Given the description of an element on the screen output the (x, y) to click on. 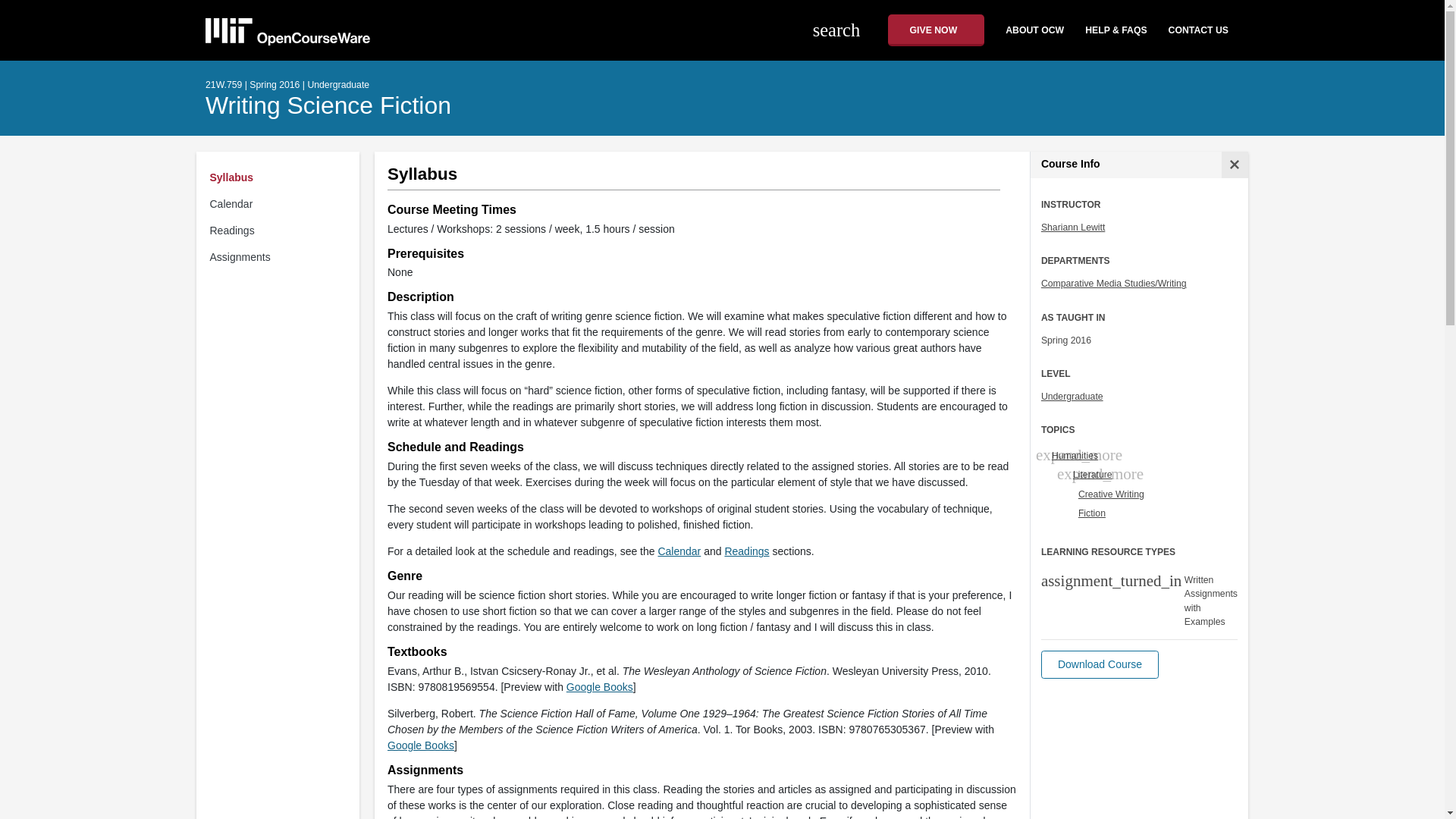
Syllabus (281, 177)
Readings (281, 230)
Assignments (281, 257)
CONTACT US (1198, 30)
Calendar (679, 551)
search (845, 30)
Google Books (599, 686)
ABOUT OCW (1029, 30)
Readings (745, 551)
Calendar (281, 203)
Writing Science Fiction (328, 104)
Google Books (420, 745)
GIVE NOW (936, 29)
